Given the description of an element on the screen output the (x, y) to click on. 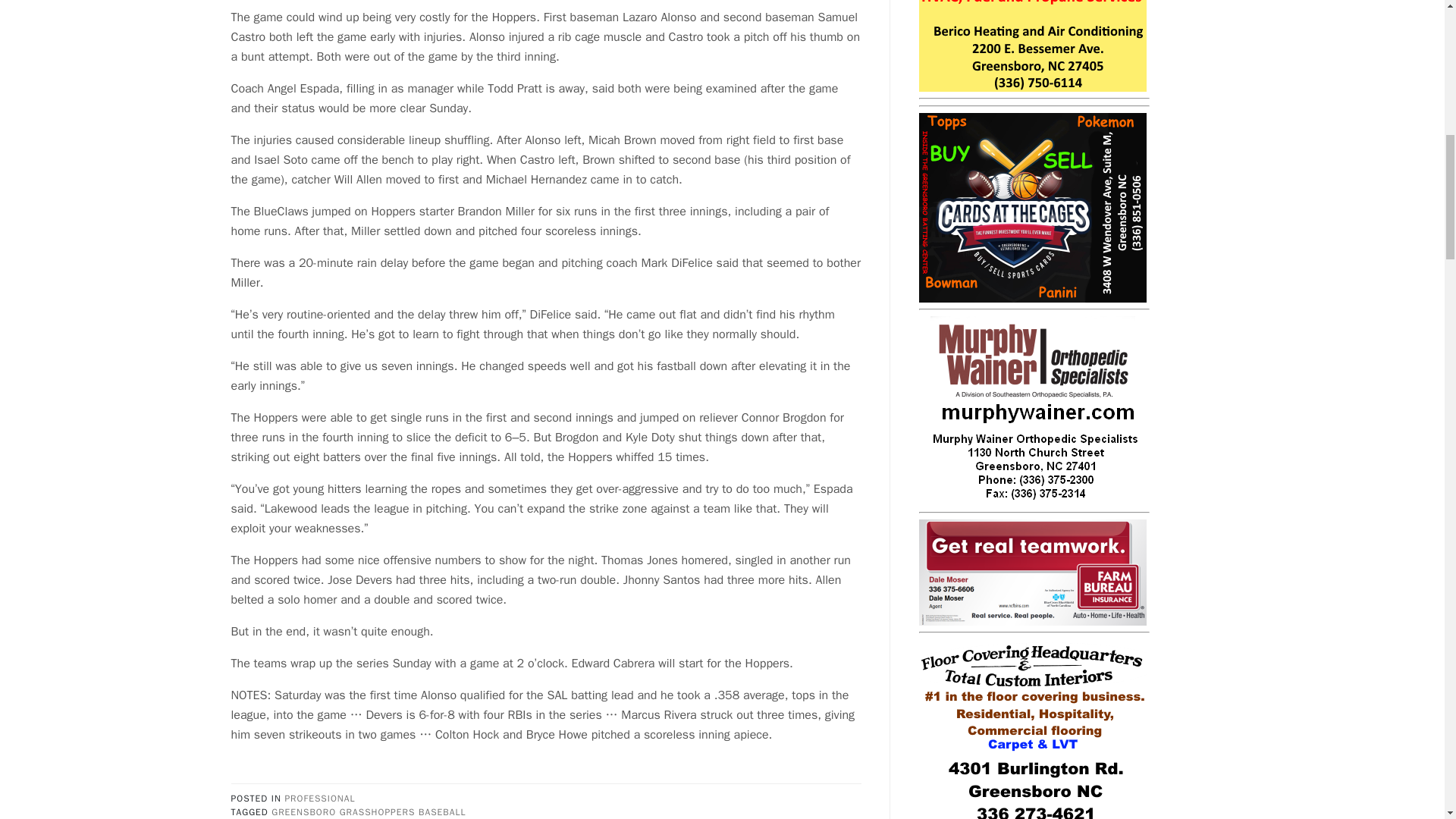
GREENSBORO GRASSHOPPERS BASEBALL (367, 811)
PROFESSIONAL (319, 798)
